Given the description of an element on the screen output the (x, y) to click on. 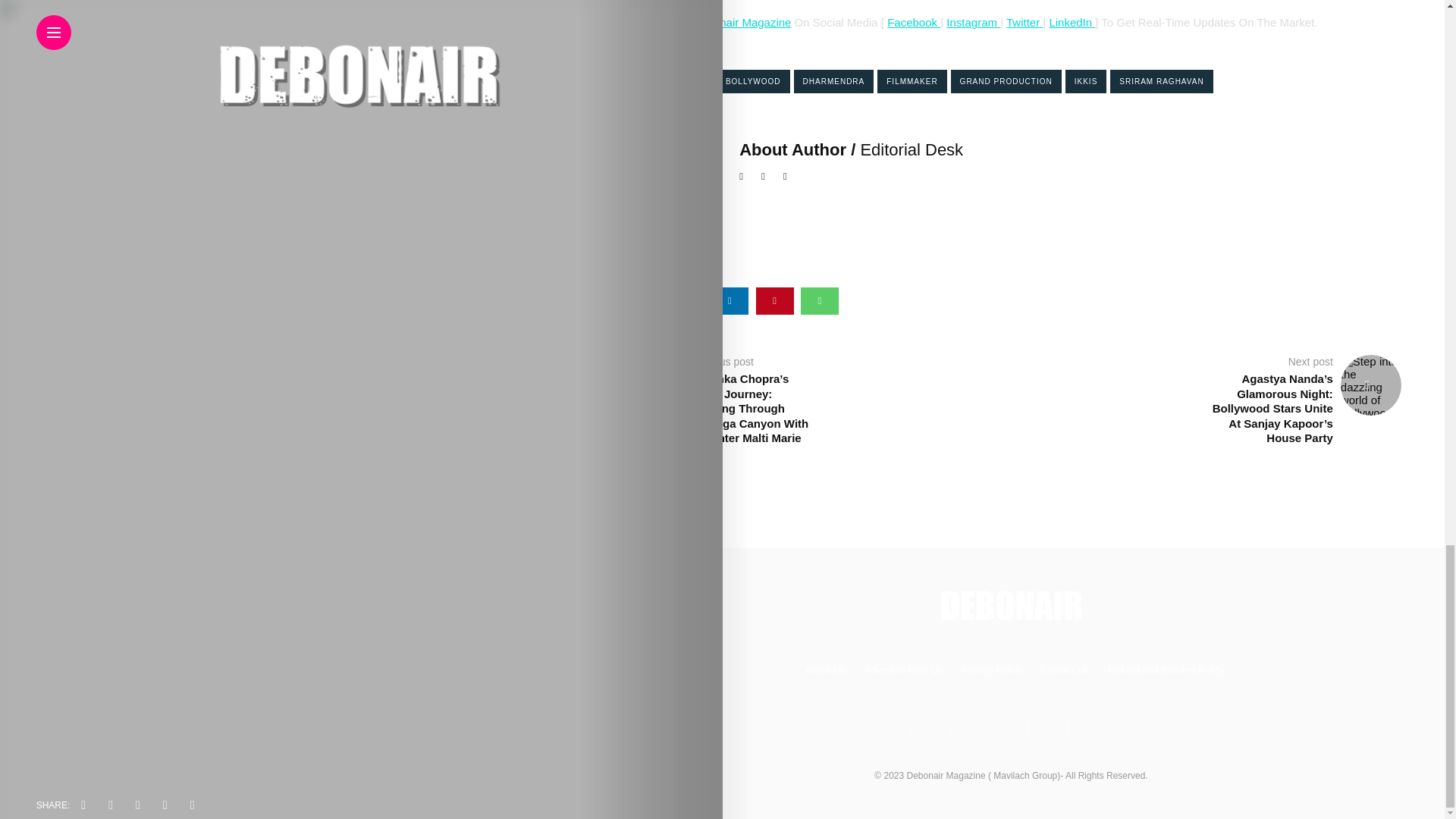
Instagram  (973, 21)
Posts by Editorial Desk (911, 149)
Debonair Magazine (741, 21)
Facebook  (913, 21)
LinkedIn (1070, 21)
AGASTYA NANDA (667, 81)
BOLLYWOOD (753, 81)
facebook (640, 300)
Twitter (1022, 21)
